Given the description of an element on the screen output the (x, y) to click on. 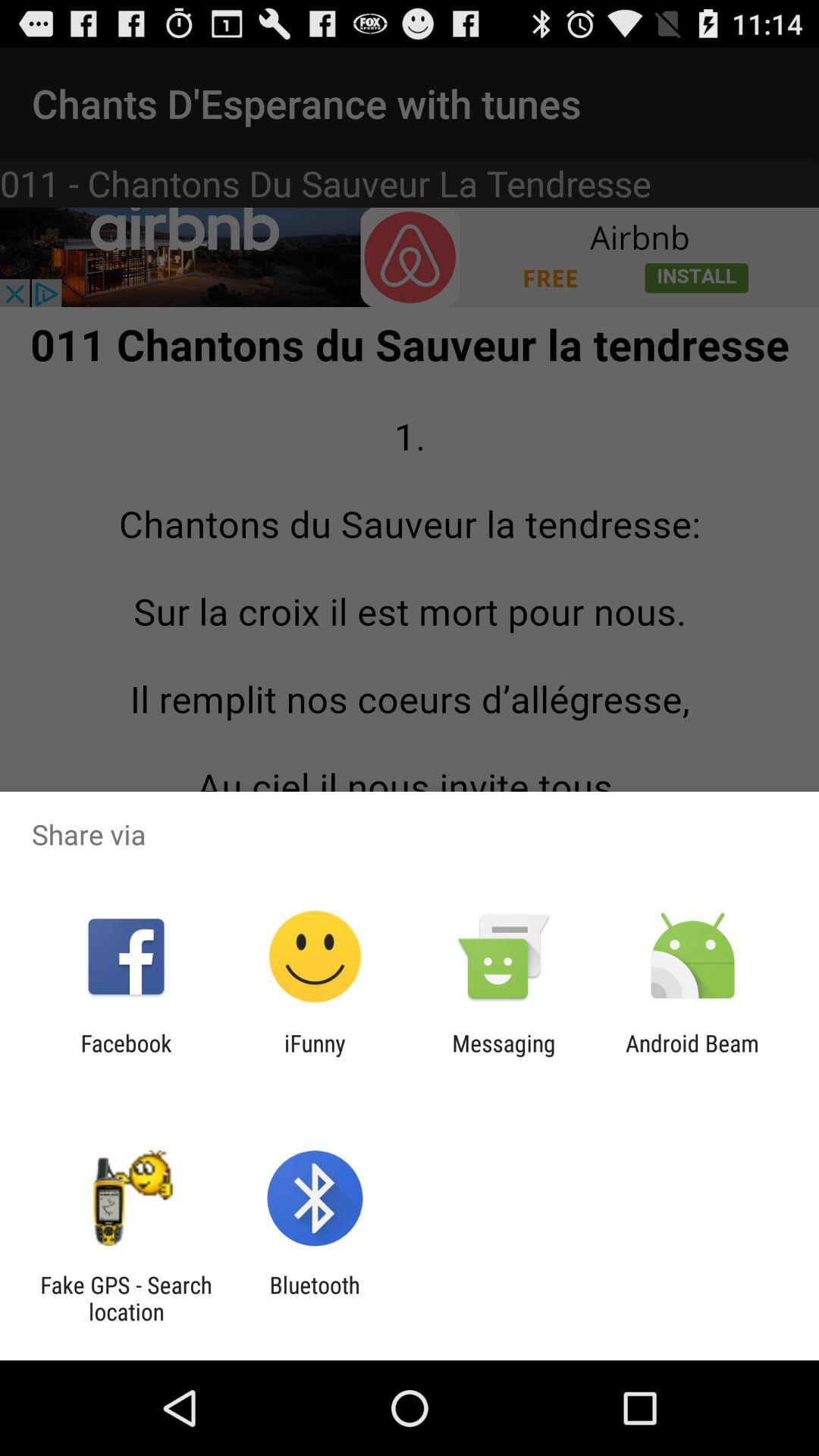
scroll to fake gps search (125, 1298)
